Given the description of an element on the screen output the (x, y) to click on. 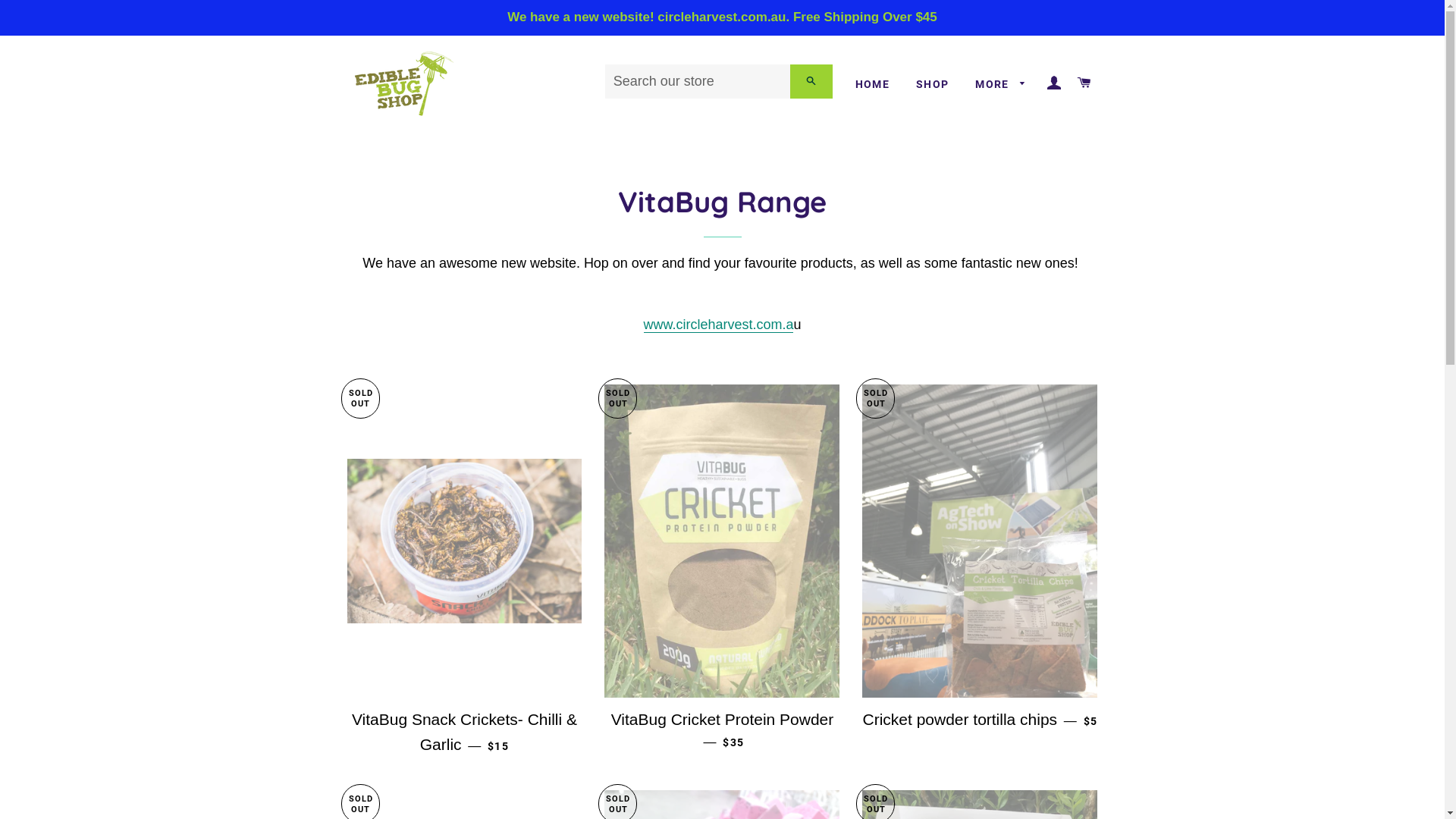
LOG IN Element type: text (1054, 83)
SEARCH Element type: text (811, 81)
CART Element type: text (1084, 83)
MORE Element type: text (1000, 84)
HOME Element type: text (872, 84)
www.circleharvest.com.a Element type: text (718, 324)
SHOP Element type: text (932, 84)
